Given the description of an element on the screen output the (x, y) to click on. 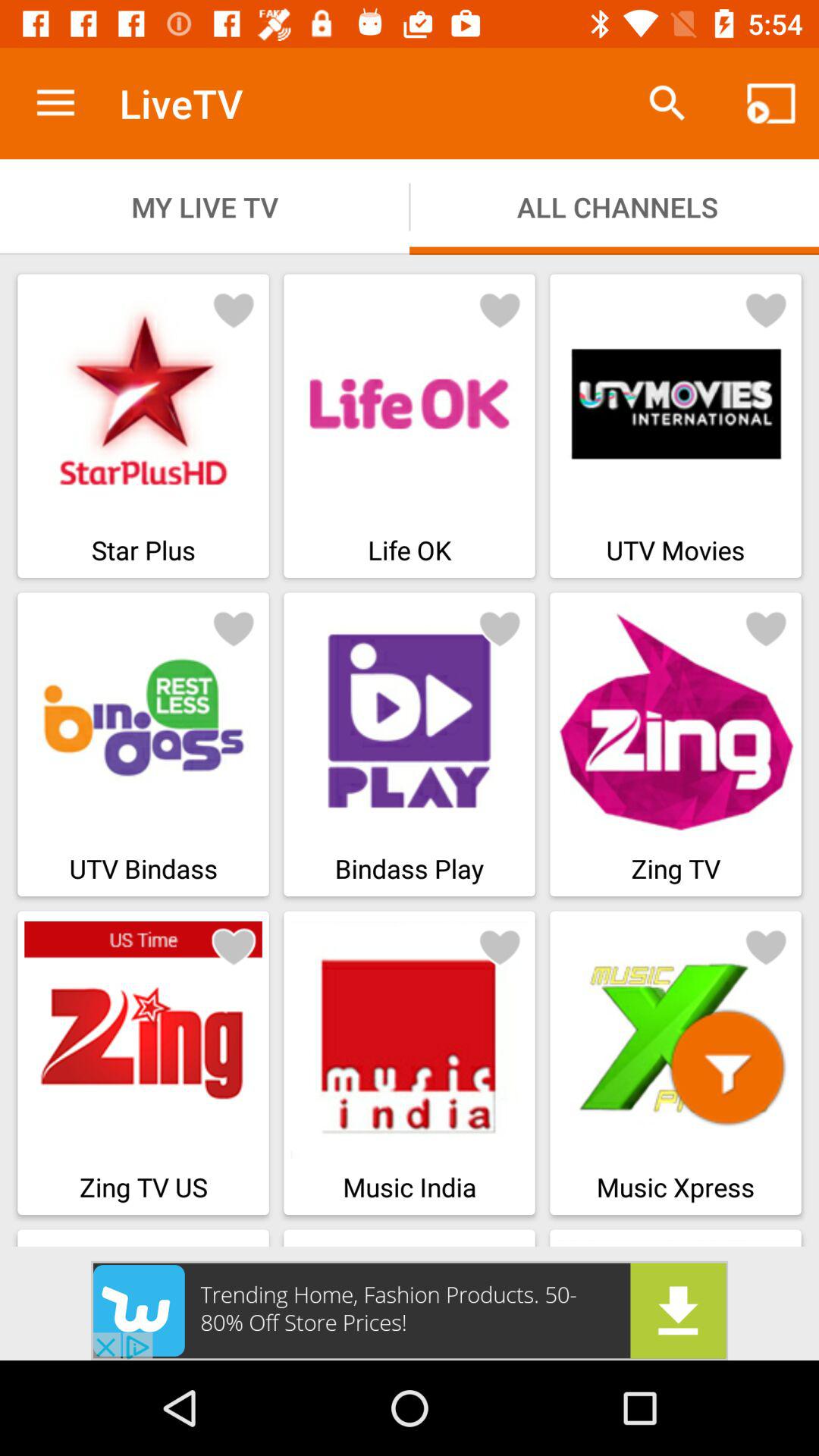
filter list (727, 1067)
